Given the description of an element on the screen output the (x, y) to click on. 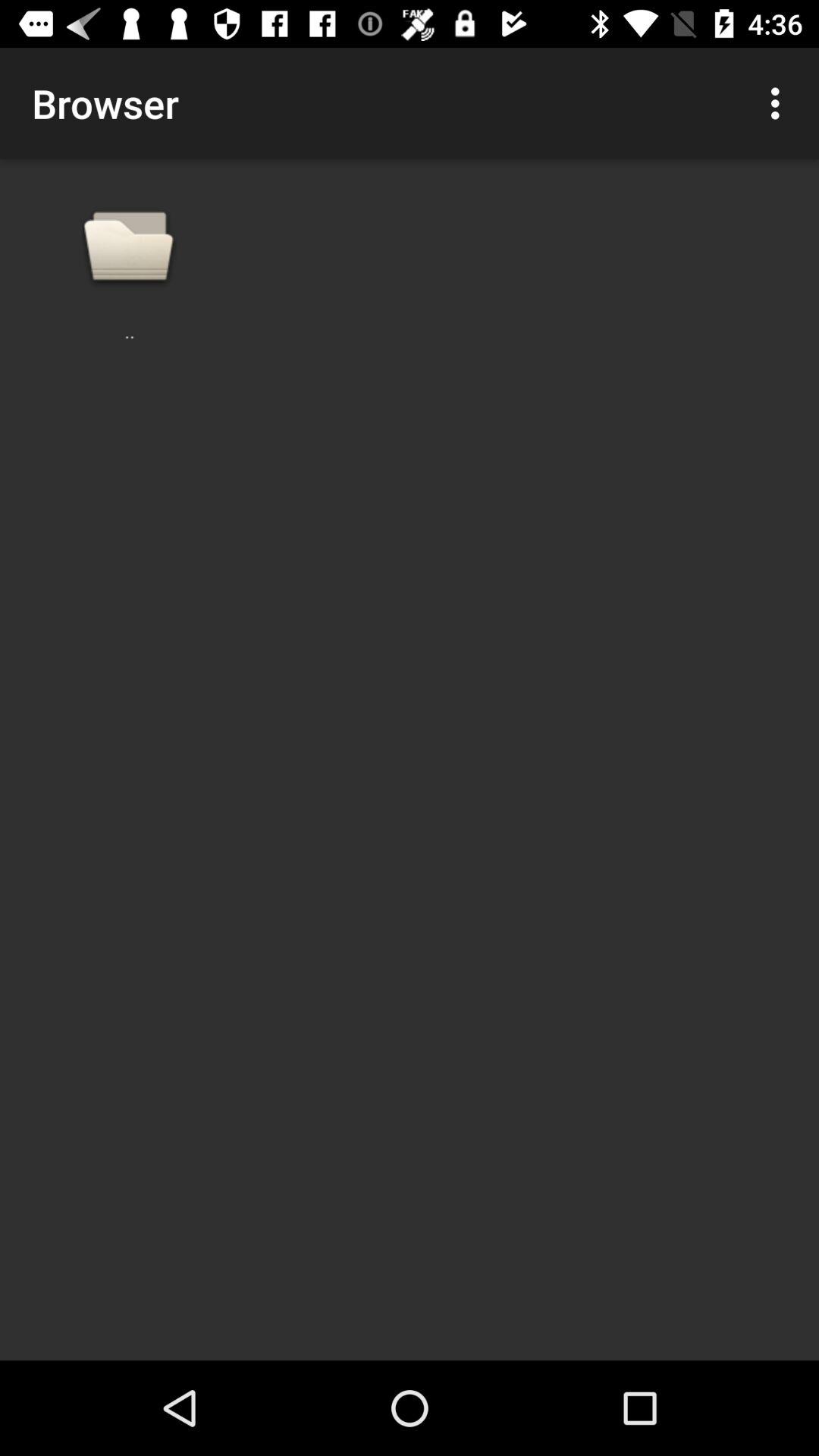
select item to the right of the browser icon (779, 103)
